Given the description of an element on the screen output the (x, y) to click on. 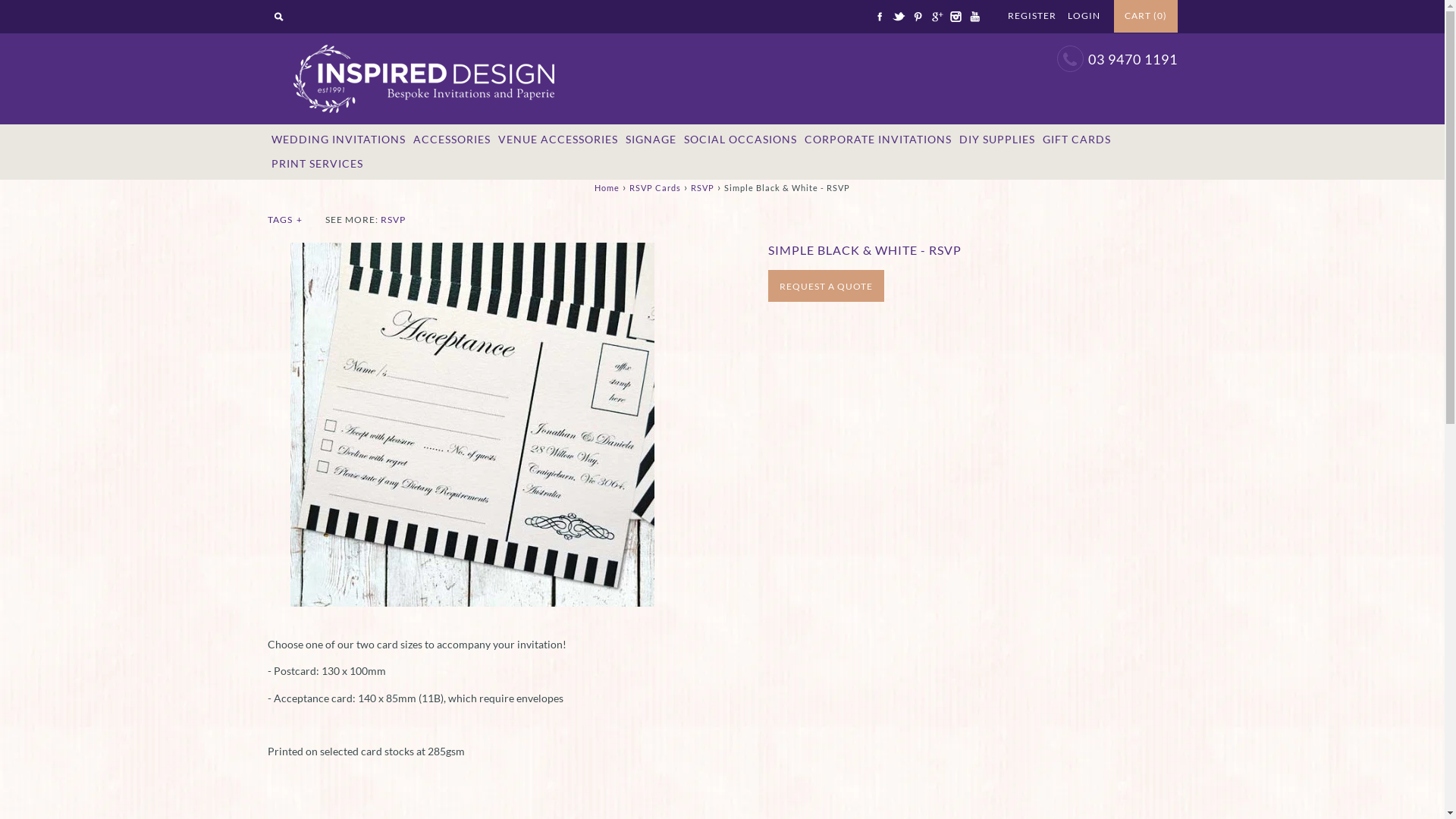
GOOGLE+ Element type: text (936, 16)
PINTEREST Element type: text (916, 16)
PRINT SERVICES Element type: text (316, 164)
YOUTUBE Element type: text (974, 16)
REGISTER Element type: text (1031, 15)
TWITTER Element type: text (898, 16)
WEDDING INVITATIONS Element type: text (337, 140)
Inspired Design Element type: hover (421, 40)
SOCIAL OCCASIONS Element type: text (739, 140)
ACCESSORIES Element type: text (451, 140)
SIGNAGE Element type: text (650, 140)
RSVP Element type: text (392, 219)
RSVP Cards Element type: text (654, 187)
Simple Black & White - RSVP Element type: hover (471, 250)
VENUE ACCESSORIES Element type: text (557, 140)
LOGIN Element type: text (1083, 15)
03 9470 1191 Element type: text (1131, 58)
RSVP Element type: text (702, 187)
Home Element type: text (606, 187)
REQUEST A QUOTE Element type: text (825, 285)
GIFT CARDS Element type: text (1076, 140)
TAGS + Element type: text (284, 219)
DIY SUPPLIES Element type: text (996, 140)
FACEBOOK Element type: text (878, 16)
INSTAGRAM Element type: text (954, 16)
CORPORATE INVITATIONS Element type: text (877, 140)
